Given the description of an element on the screen output the (x, y) to click on. 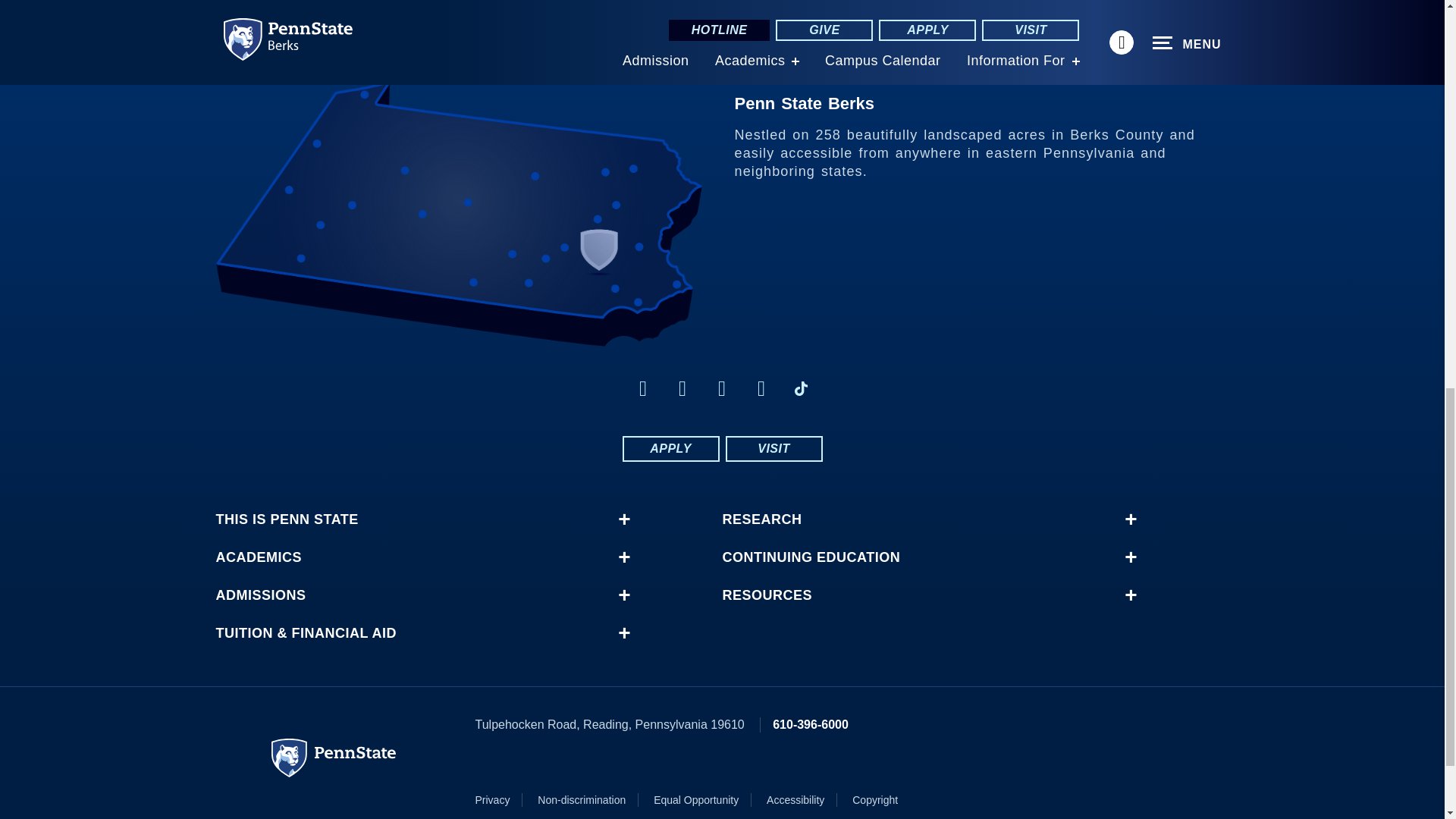
youtube (721, 388)
twitter (682, 388)
facebook (642, 388)
